Given the description of an element on the screen output the (x, y) to click on. 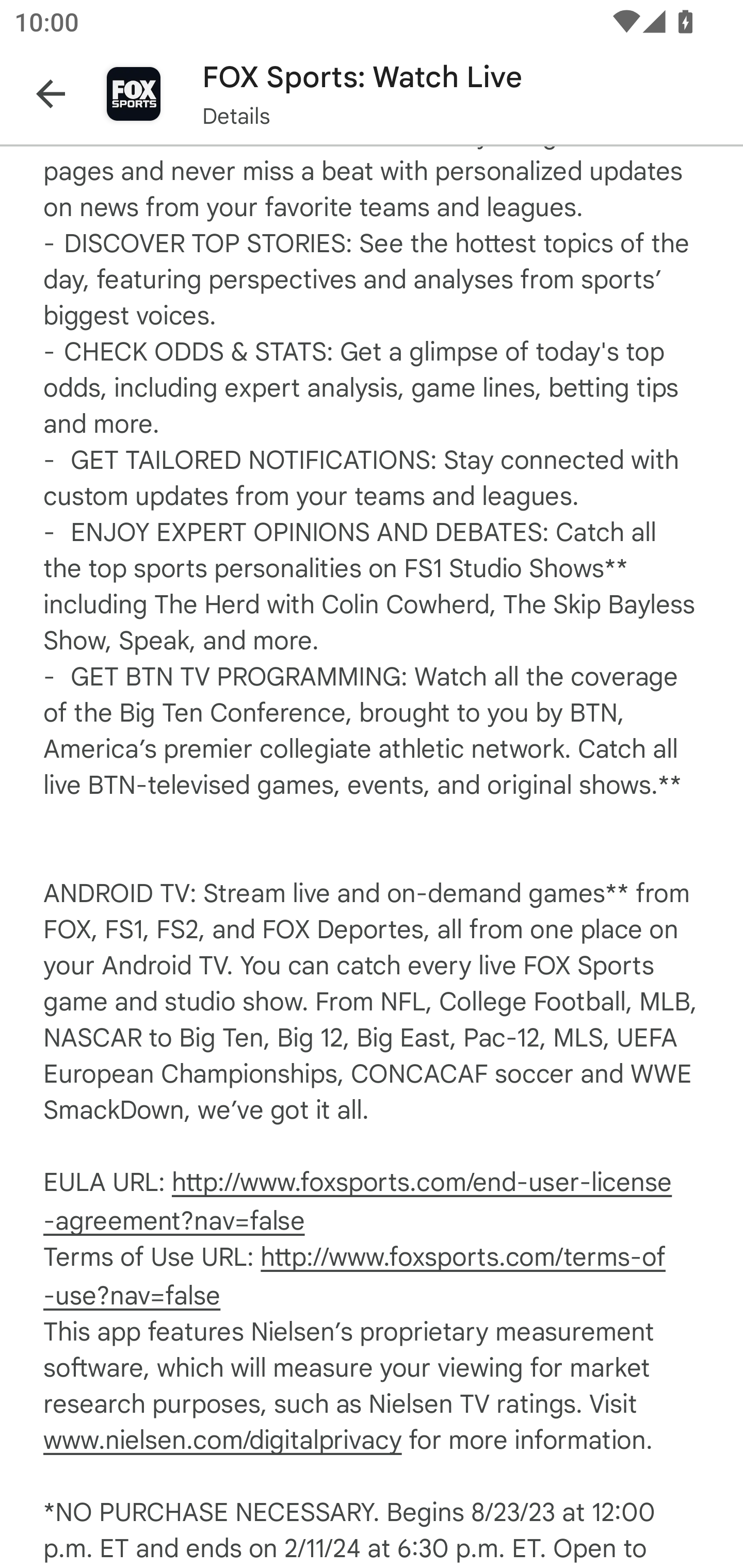
Navigate up (50, 93)
